Given the description of an element on the screen output the (x, y) to click on. 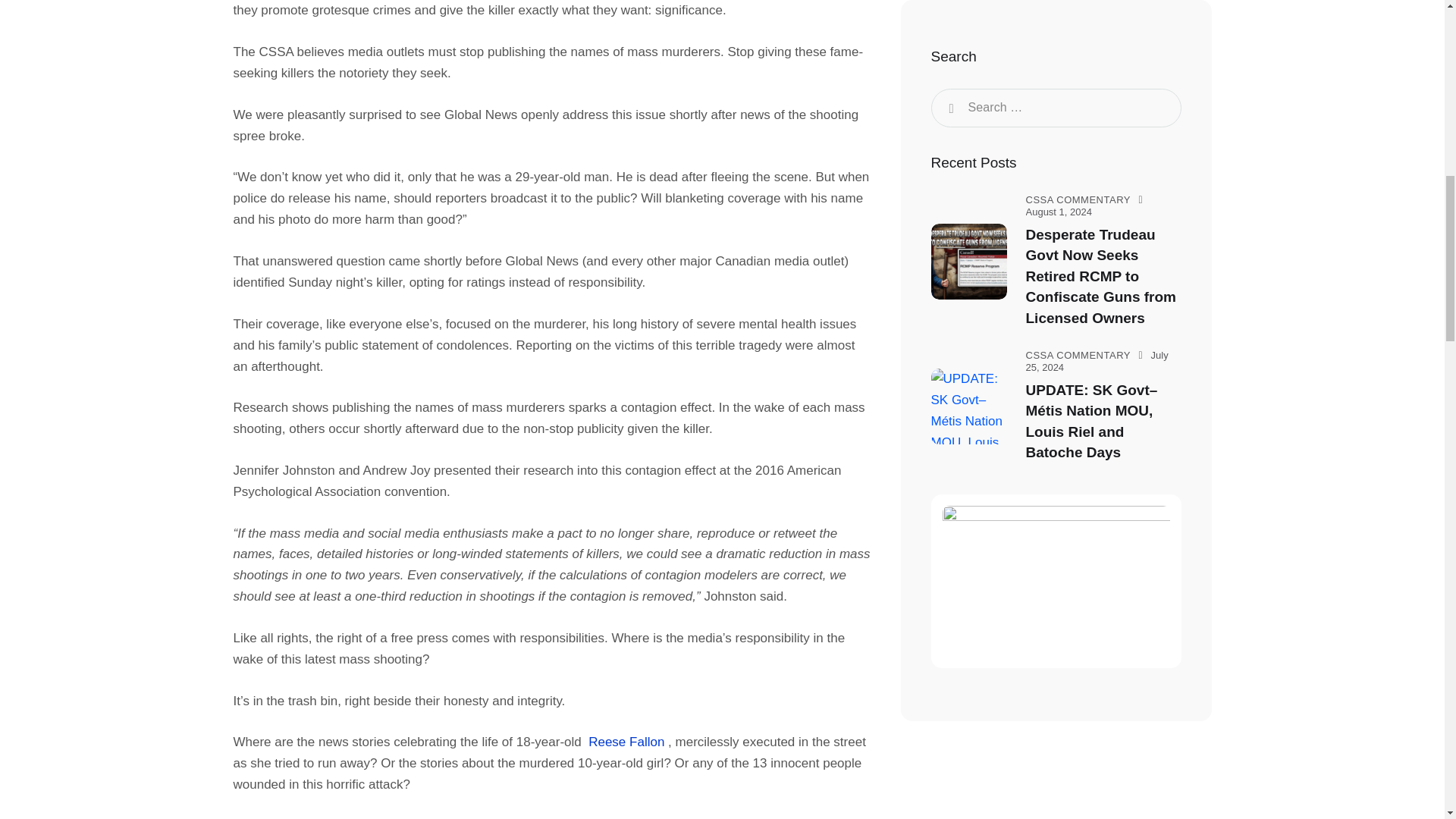
View all posts in CSSA Commentary (1077, 156)
View all posts in CSSA Commentary (1077, 312)
